Given the description of an element on the screen output the (x, y) to click on. 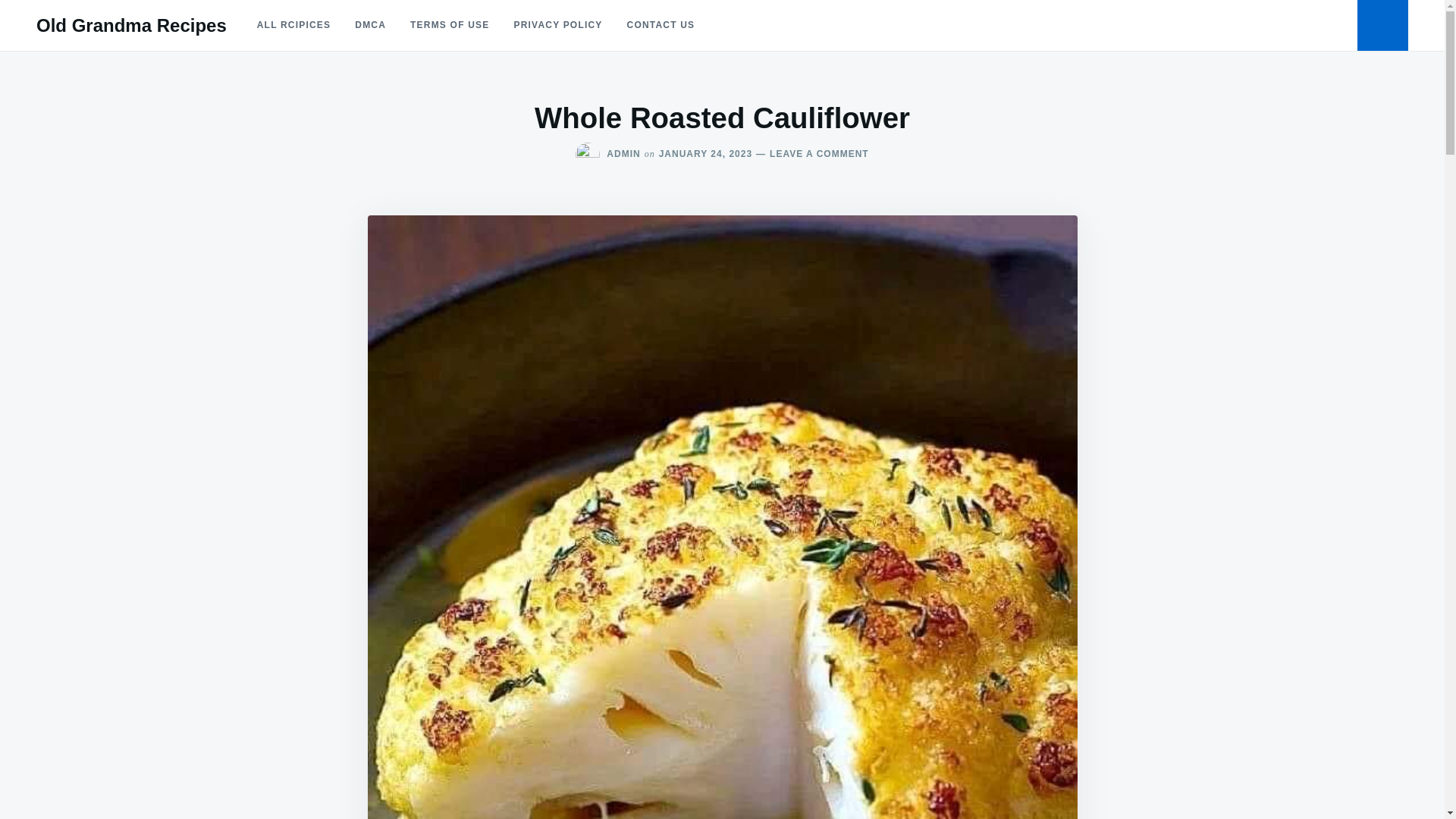
TERMS OF USE (448, 25)
ADMIN (623, 153)
CONTACT US (660, 25)
DMCA (369, 25)
Old Grandma Recipes (810, 153)
PRIVACY POLICY (131, 25)
JANUARY 24, 2023 (557, 25)
ALL RCIPICES (705, 153)
